Given the description of an element on the screen output the (x, y) to click on. 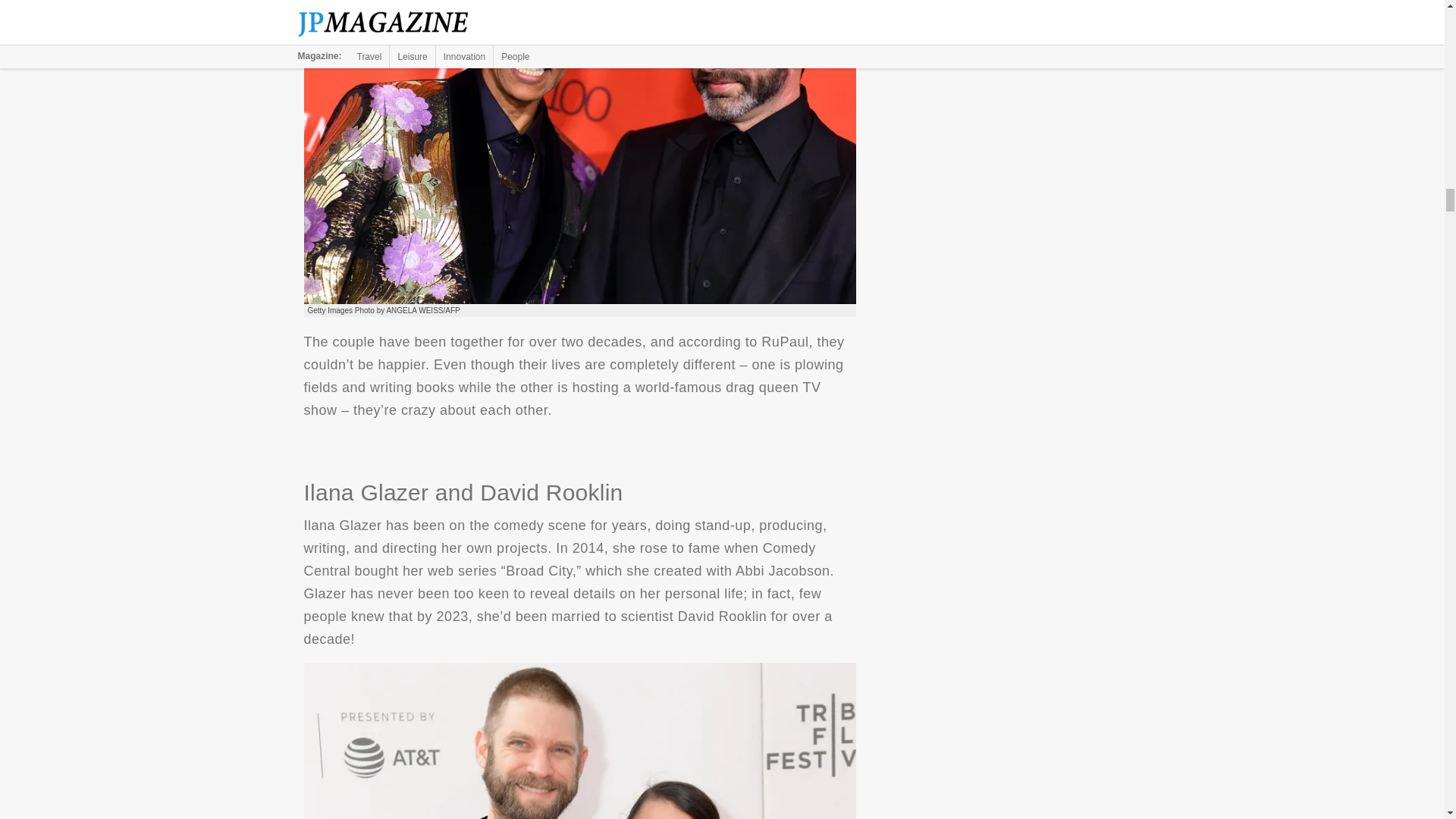
Ilana Glazer and David Rooklin (579, 740)
